Given the description of an element on the screen output the (x, y) to click on. 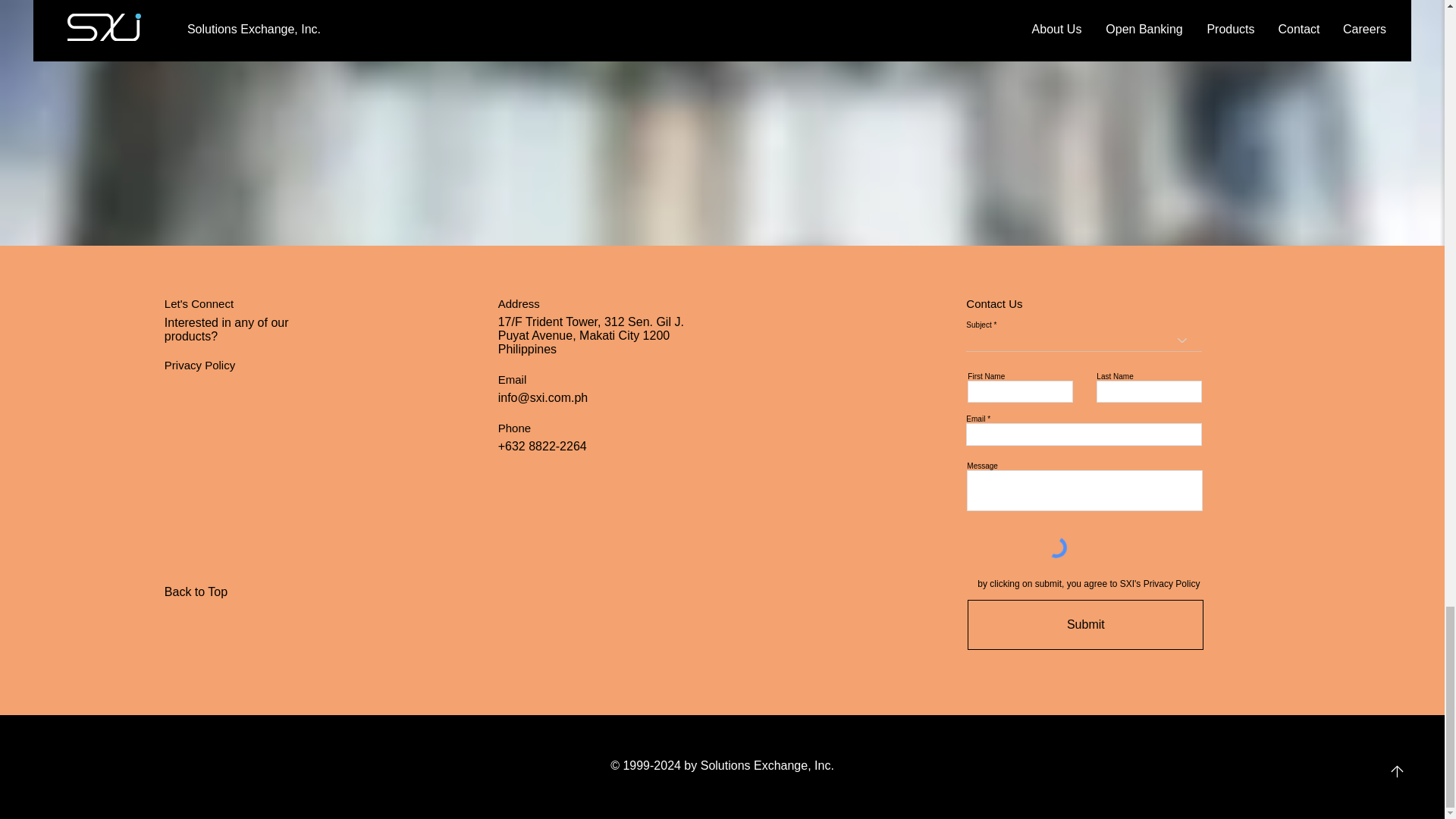
Submit (1086, 624)
Back to Top (218, 592)
Privacy Policy (199, 364)
